Given the description of an element on the screen output the (x, y) to click on. 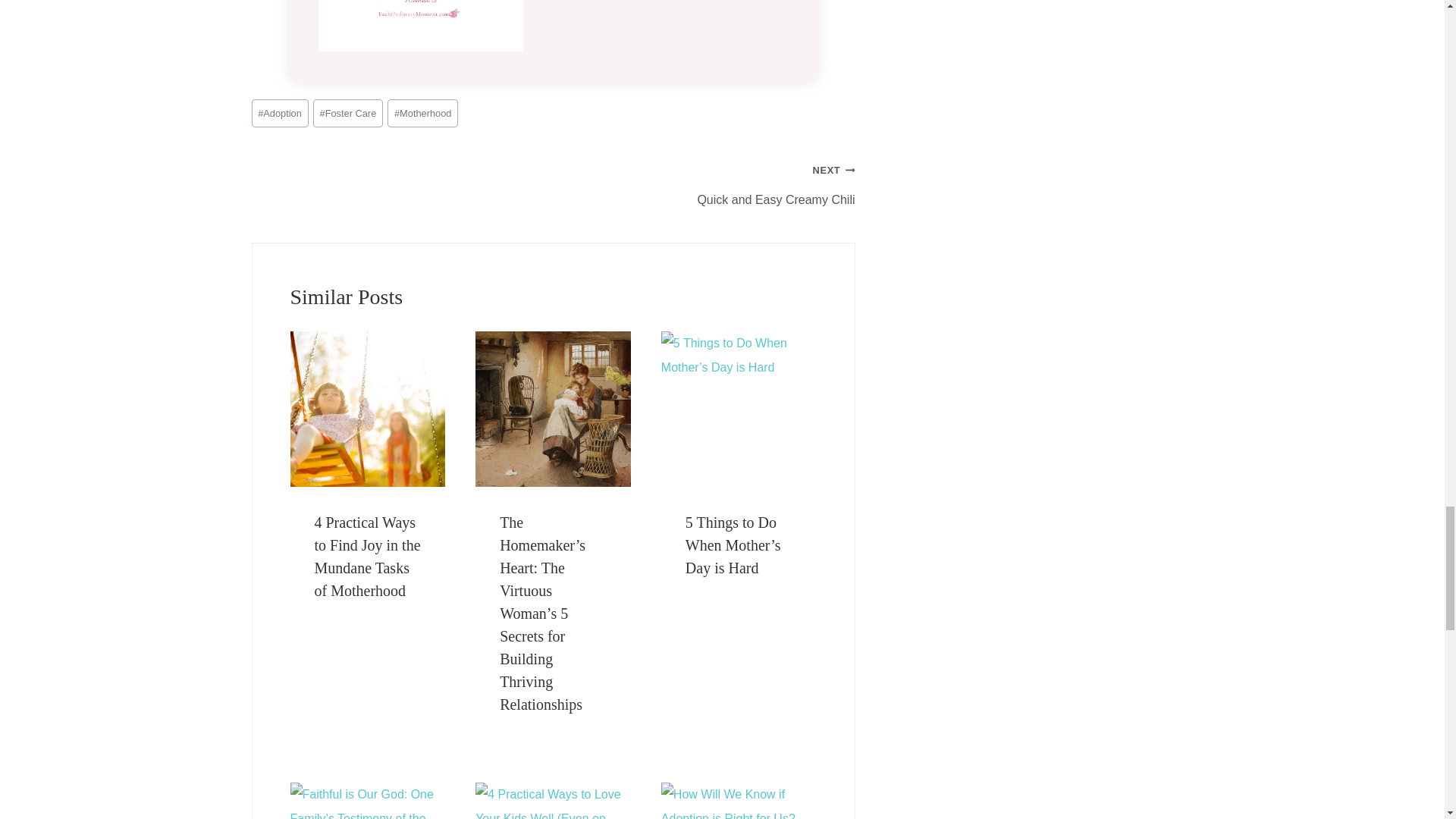
Adoption (279, 113)
Foster Care (347, 113)
Motherhood (422, 113)
